Given the description of an element on the screen output the (x, y) to click on. 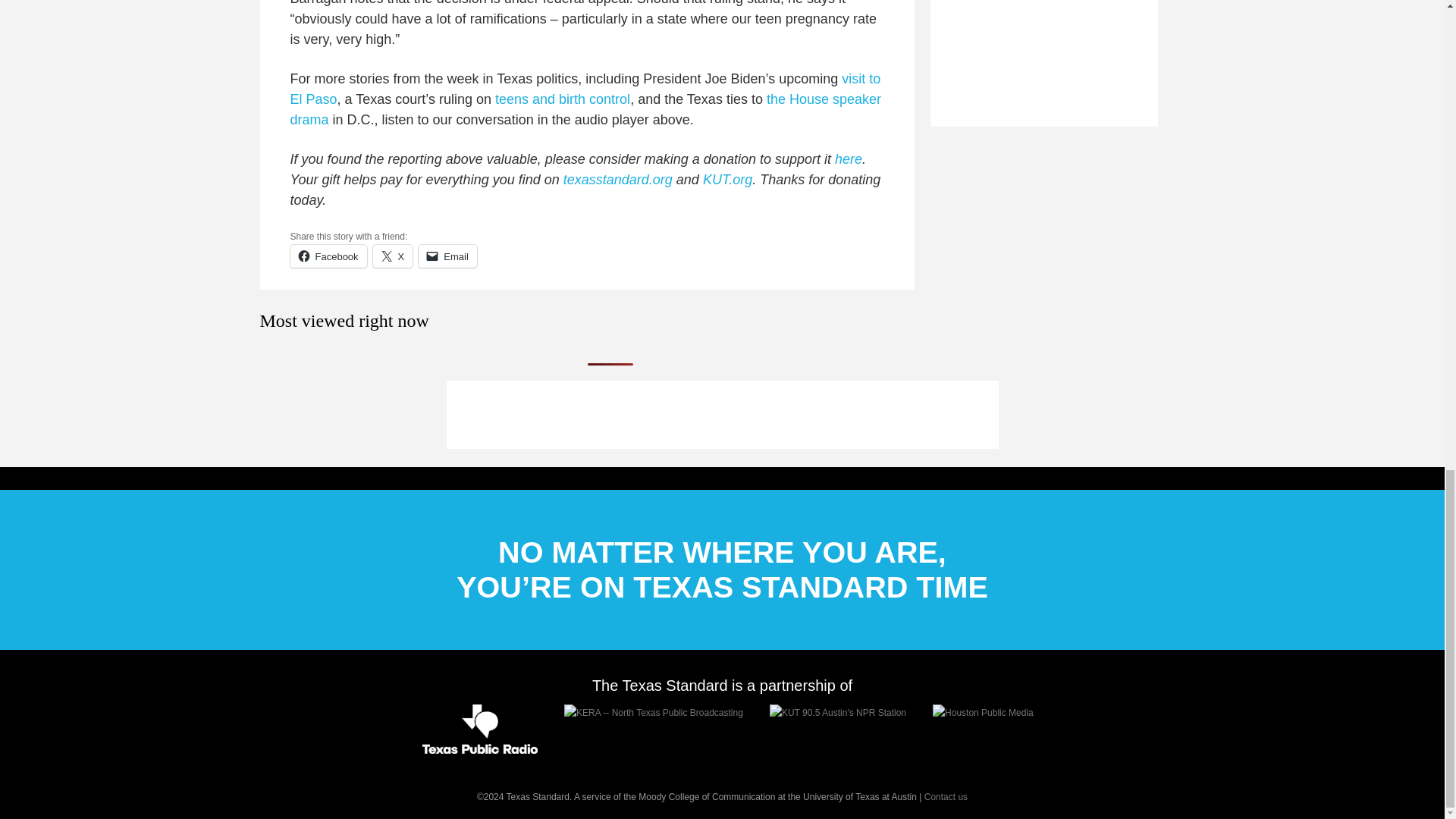
Click to share on Facebook (327, 255)
Click to email a link to a friend (448, 255)
Click to share on X (392, 255)
